Given the description of an element on the screen output the (x, y) to click on. 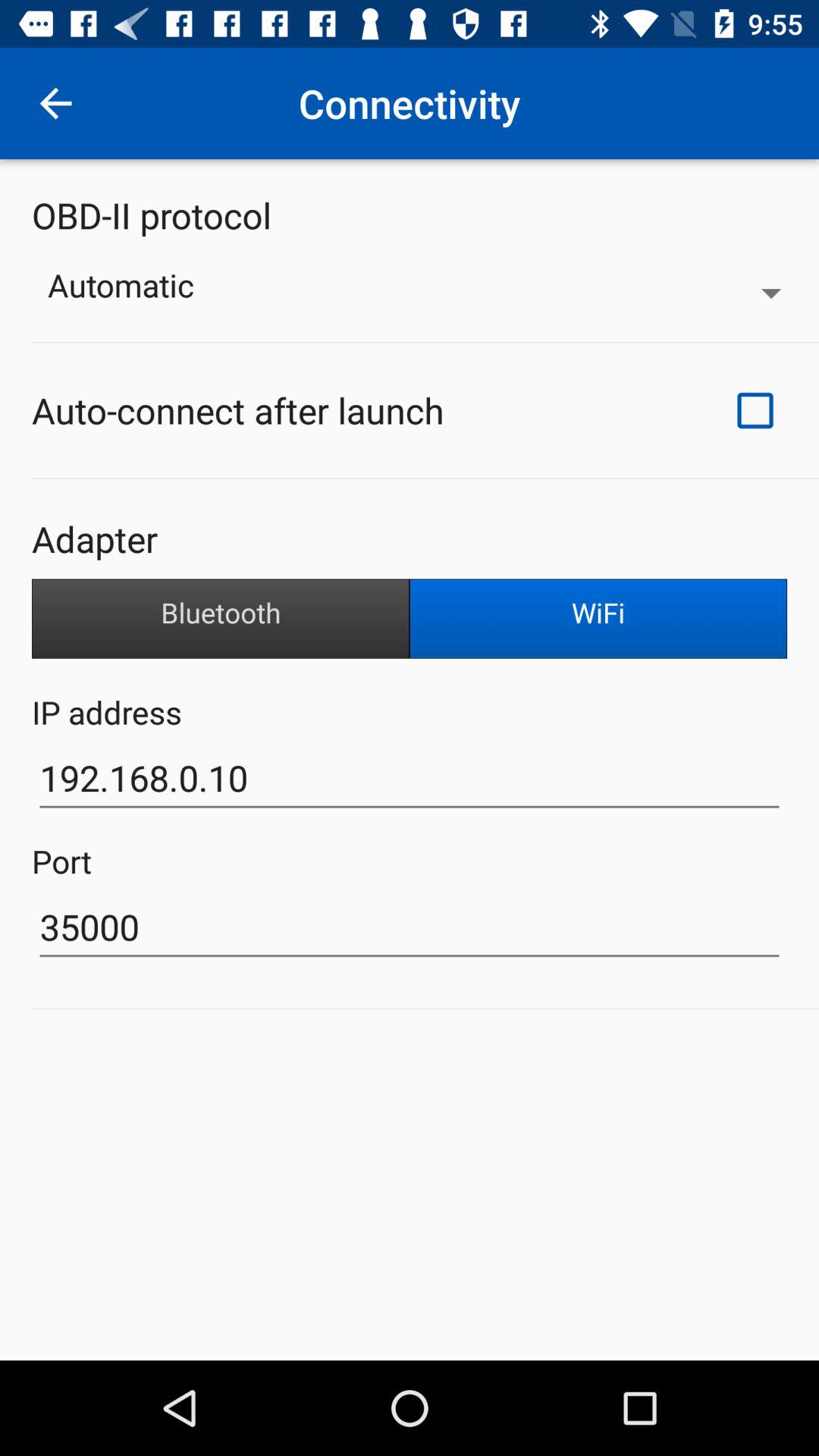
tap icon below port item (409, 927)
